Given the description of an element on the screen output the (x, y) to click on. 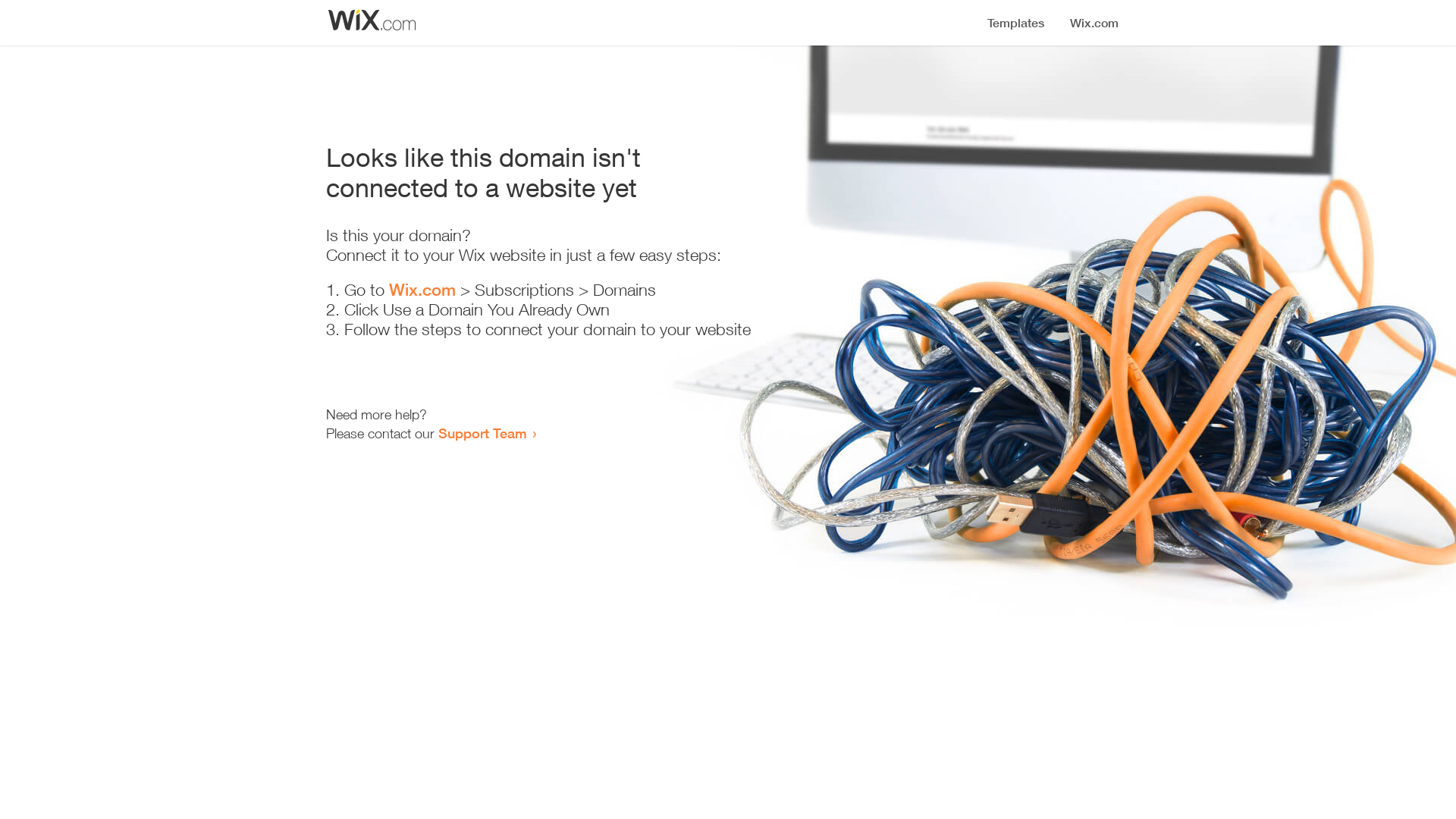
Wix.com Element type: text (422, 289)
Support Team Element type: text (482, 432)
